Given the description of an element on the screen output the (x, y) to click on. 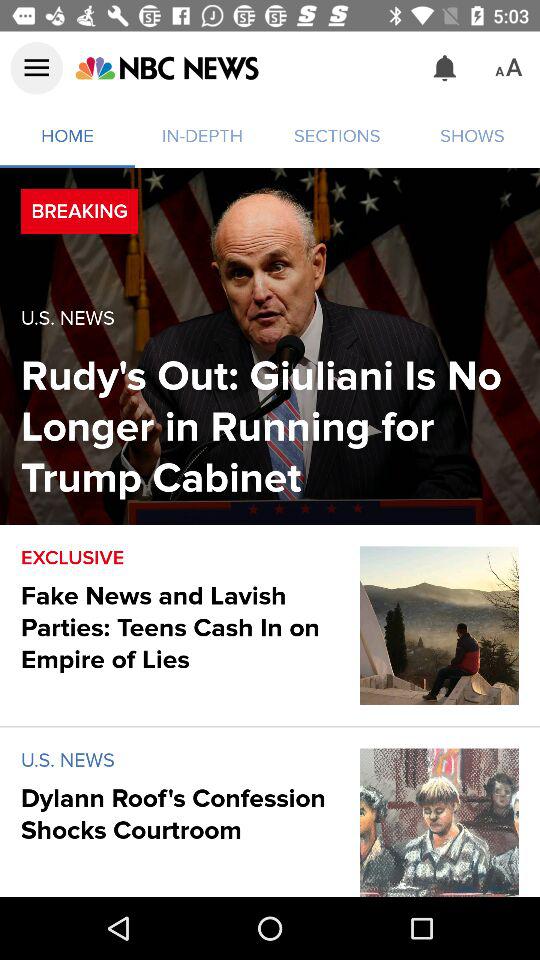
tap icon above the shows item (444, 67)
